Given the description of an element on the screen output the (x, y) to click on. 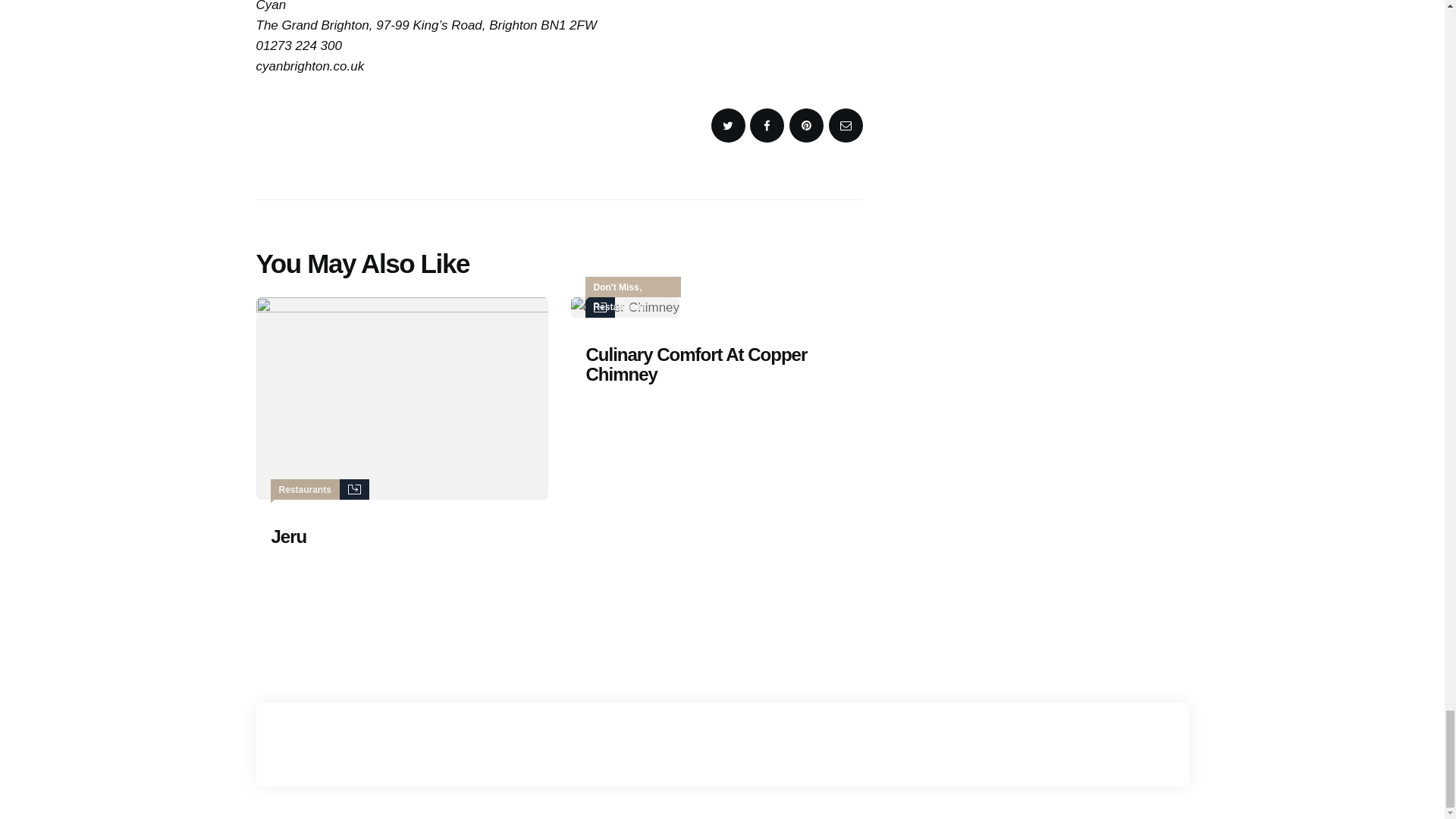
Restaurants (618, 307)
View all posts in Restaurants (618, 307)
Copper Chimney (624, 307)
Culinary Comfort At Copper Chimney (716, 364)
Restaurants (305, 489)
Jeru (401, 537)
View all posts in Don't Miss (615, 286)
View all posts in Restaurants (305, 489)
Don't Miss (615, 286)
